Given the description of an element on the screen output the (x, y) to click on. 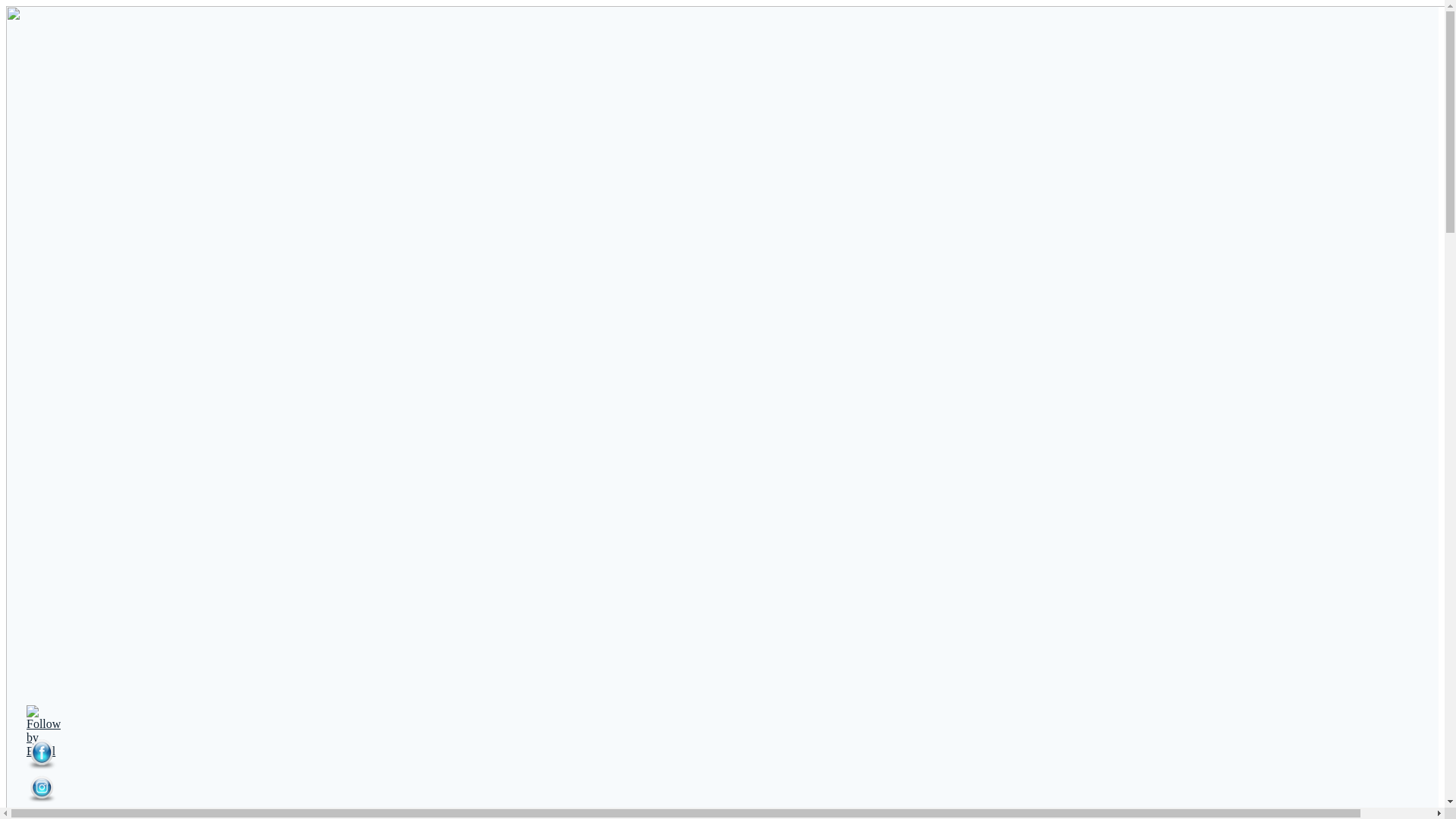
Facebook Element type: hover (41, 754)
Instagram Element type: hover (41, 788)
Follow by Email Element type: hover (43, 731)
Skip to content Element type: text (5, 5)
